Given the description of an element on the screen output the (x, y) to click on. 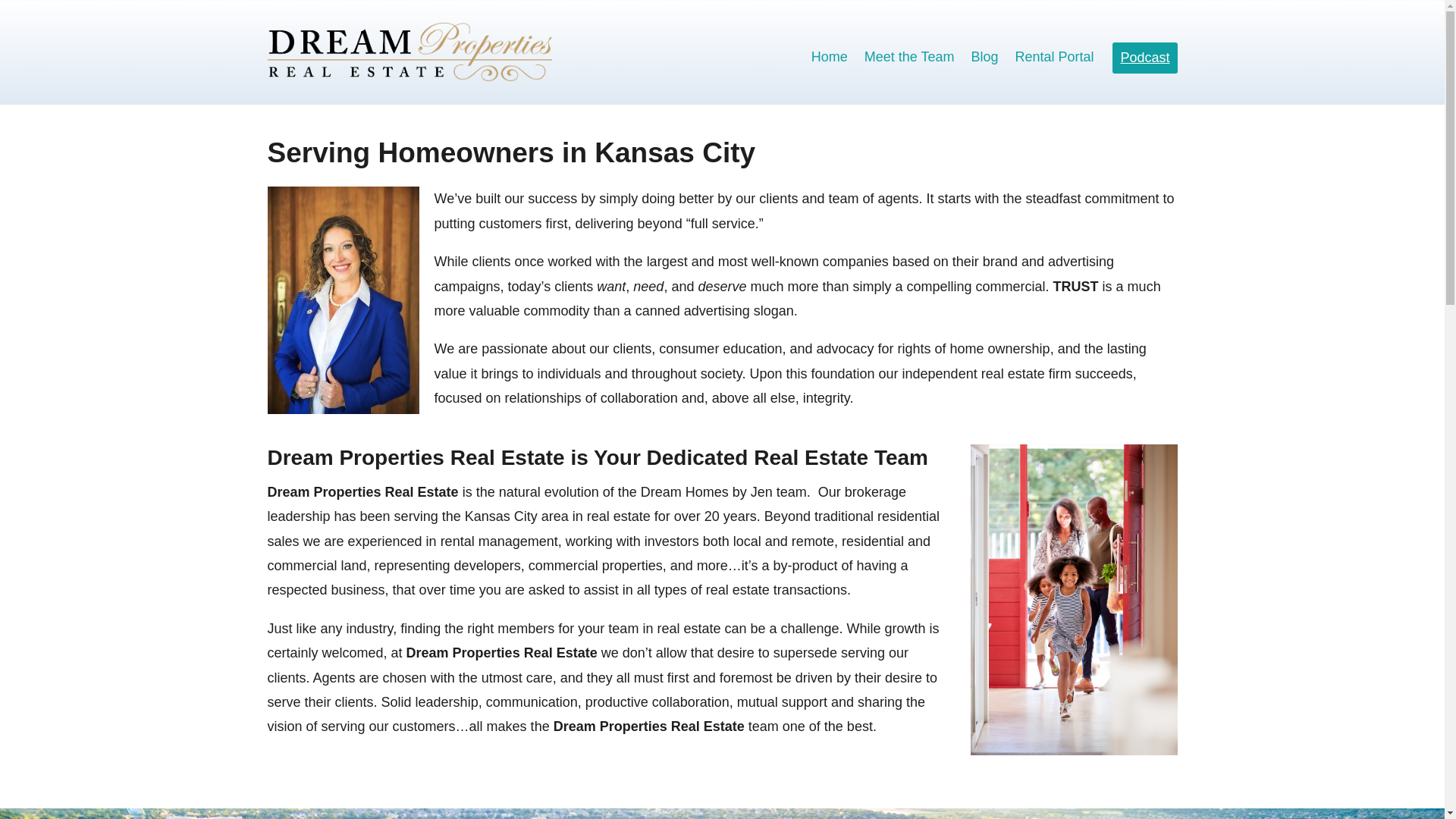
Home (828, 59)
Meet the Team (909, 59)
Horizontal-logo (408, 51)
Blog (984, 59)
Rental Portal (1053, 59)
Podcast (1144, 57)
